Given the description of an element on the screen output the (x, y) to click on. 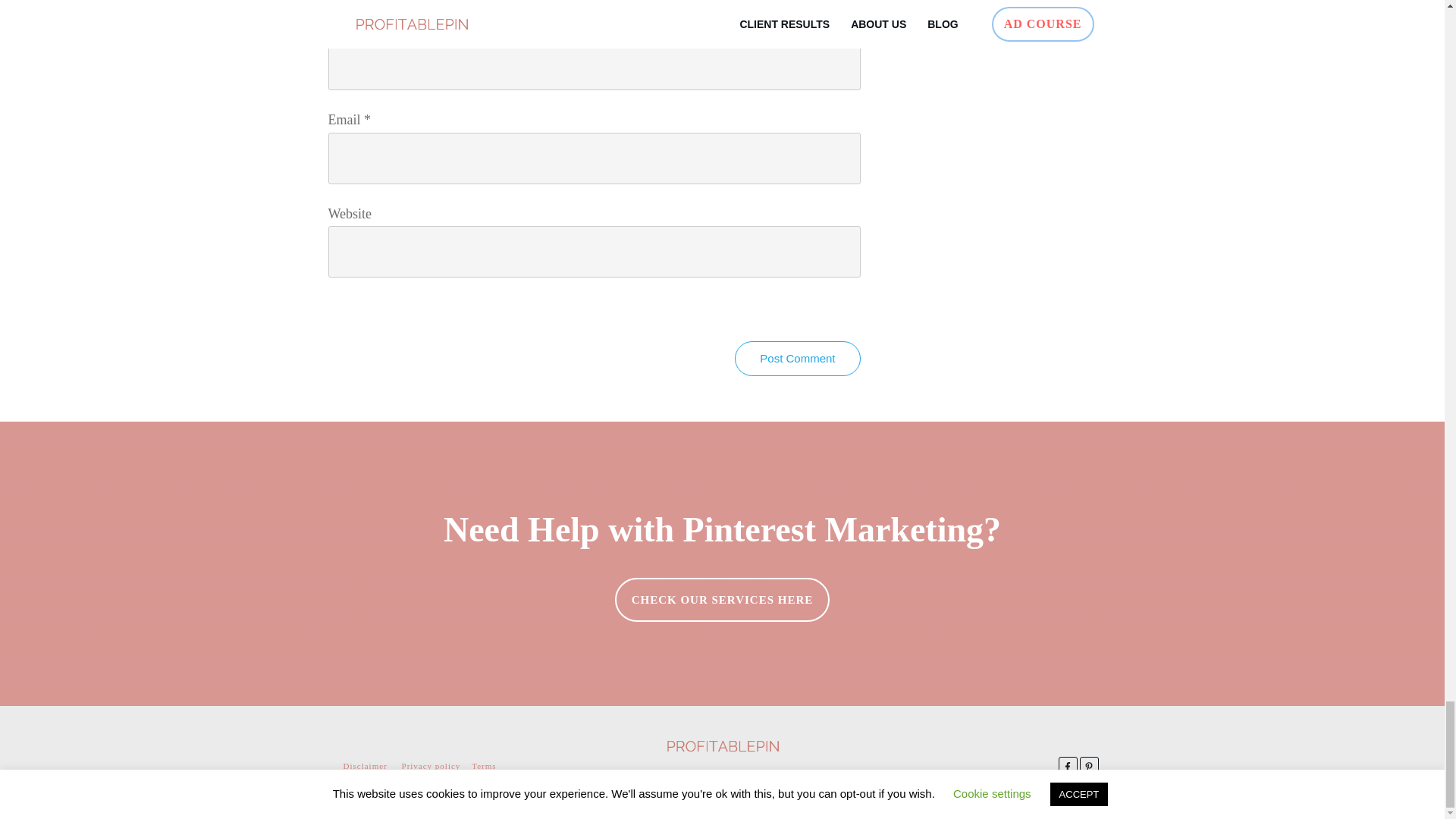
CHECK OUR SERVICES HERE (721, 599)
Privacy policy (431, 765)
Post Comment (797, 358)
Terms (483, 765)
Disclaimer (364, 765)
